Given the description of an element on the screen output the (x, y) to click on. 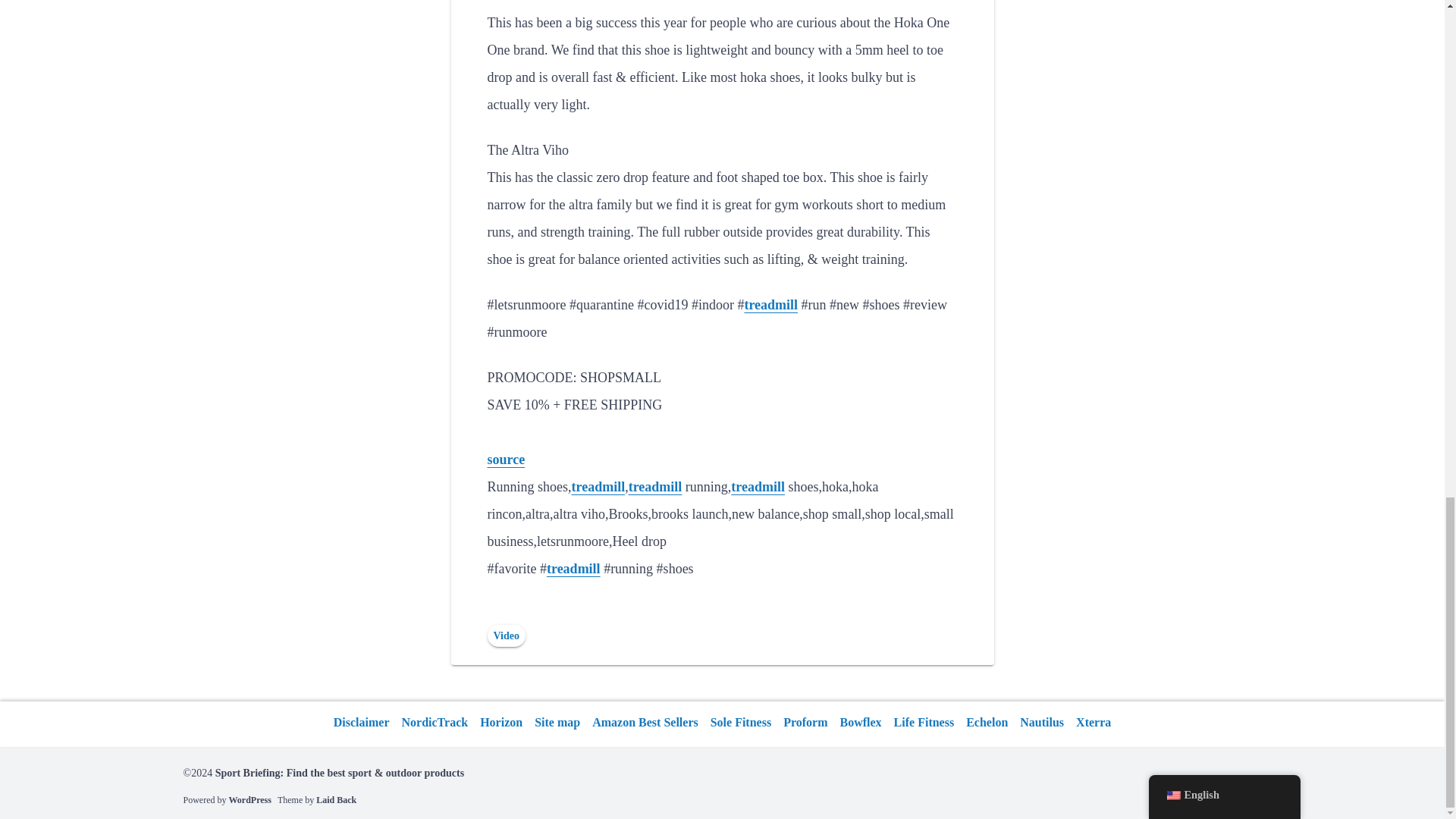
Horizon (501, 722)
Site map (557, 722)
Video (505, 635)
Sole Fitness (740, 722)
Nautilus (1041, 722)
treadmill (757, 486)
Amazon Best Sellers (645, 722)
treadmill (655, 486)
treadmill (573, 568)
treadmill (599, 486)
source (505, 459)
Echelon (986, 722)
Proform (804, 722)
Xterra (1093, 722)
Laid Back (335, 799)
